Given the description of an element on the screen output the (x, y) to click on. 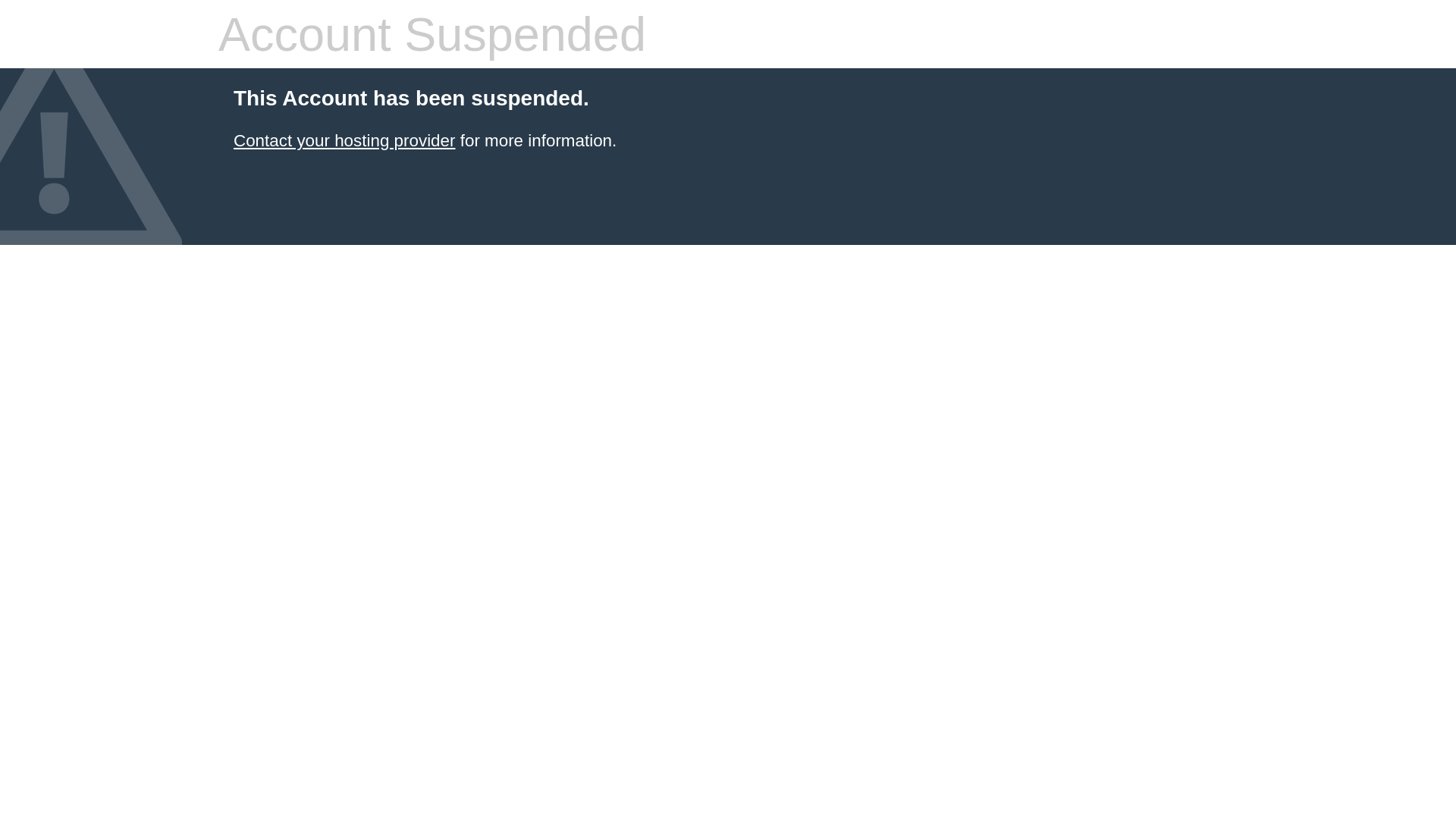
Contact your hosting provider Element type: text (344, 140)
